Given the description of an element on the screen output the (x, y) to click on. 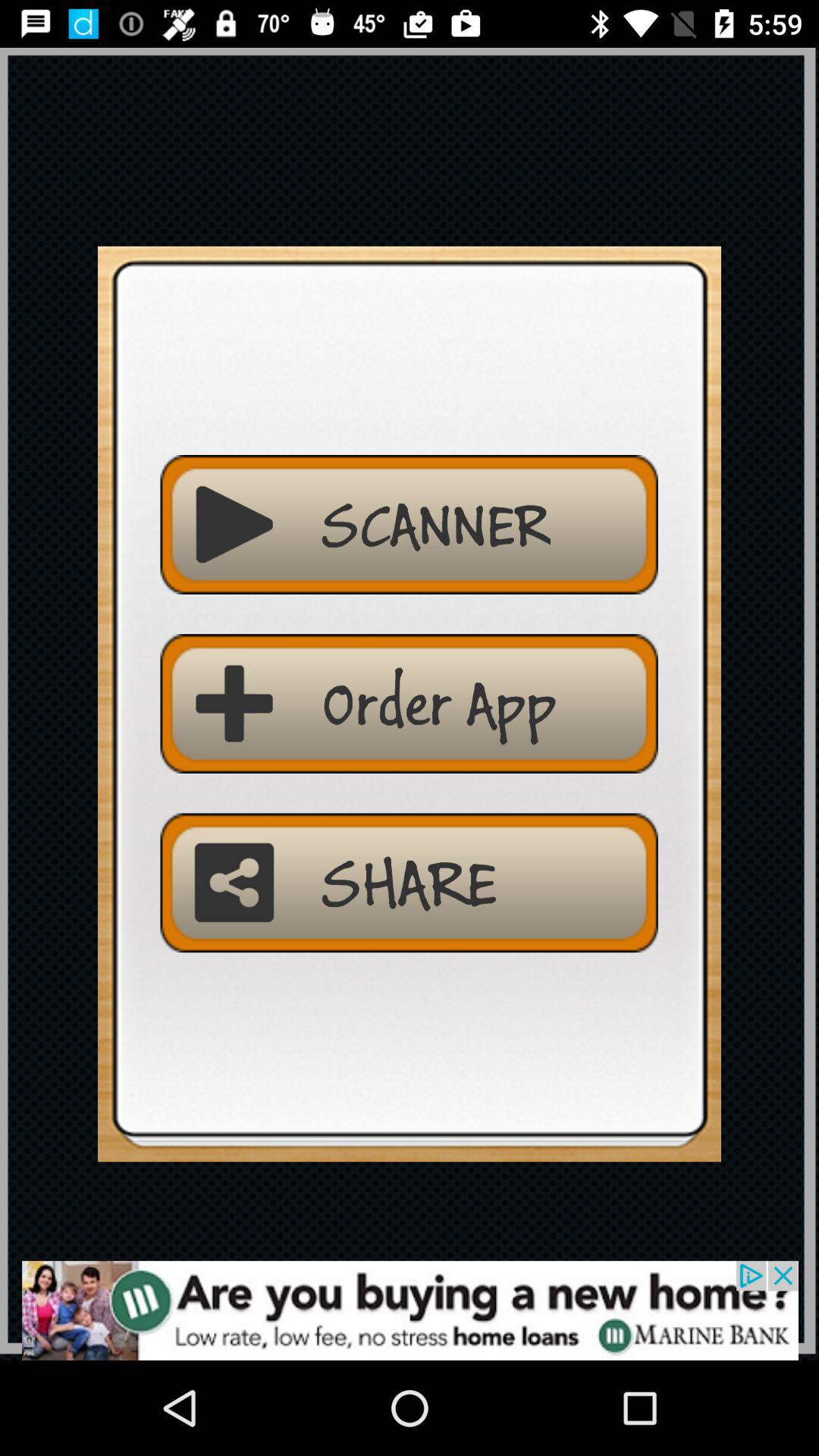
go to the advertisement (409, 1310)
